Given the description of an element on the screen output the (x, y) to click on. 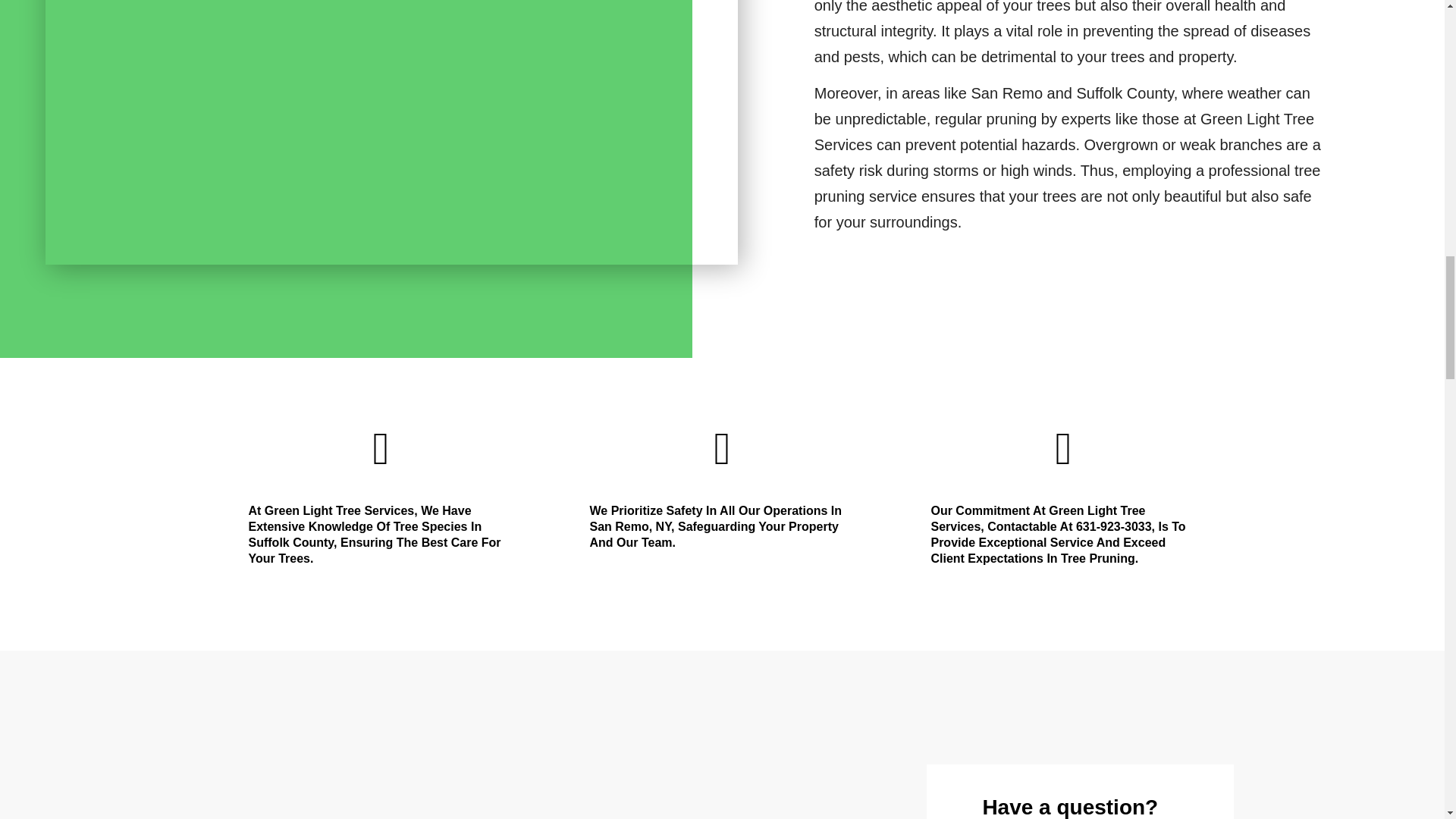
631-923-3033 (1113, 526)
